Given the description of an element on the screen output the (x, y) to click on. 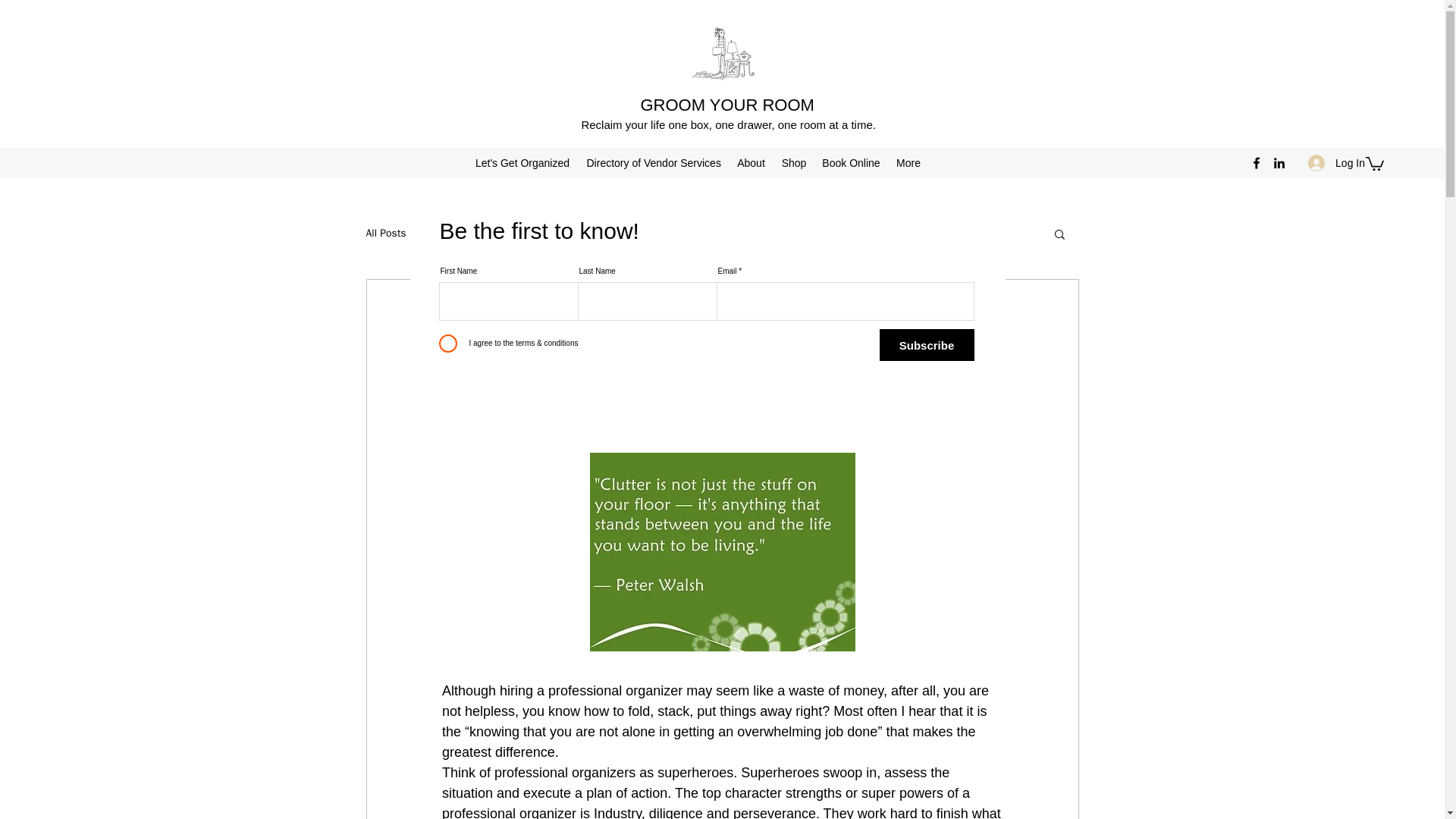
Shop (793, 162)
About (750, 162)
Subscribe (926, 345)
Let's Get Organized (521, 162)
All Posts (385, 233)
GROOM YOUR ROOM (726, 104)
Directory of Vendor Services (654, 162)
4 min read (790, 337)
Book Online (850, 162)
Apr 10, 2019 (720, 337)
